Given the description of an element on the screen output the (x, y) to click on. 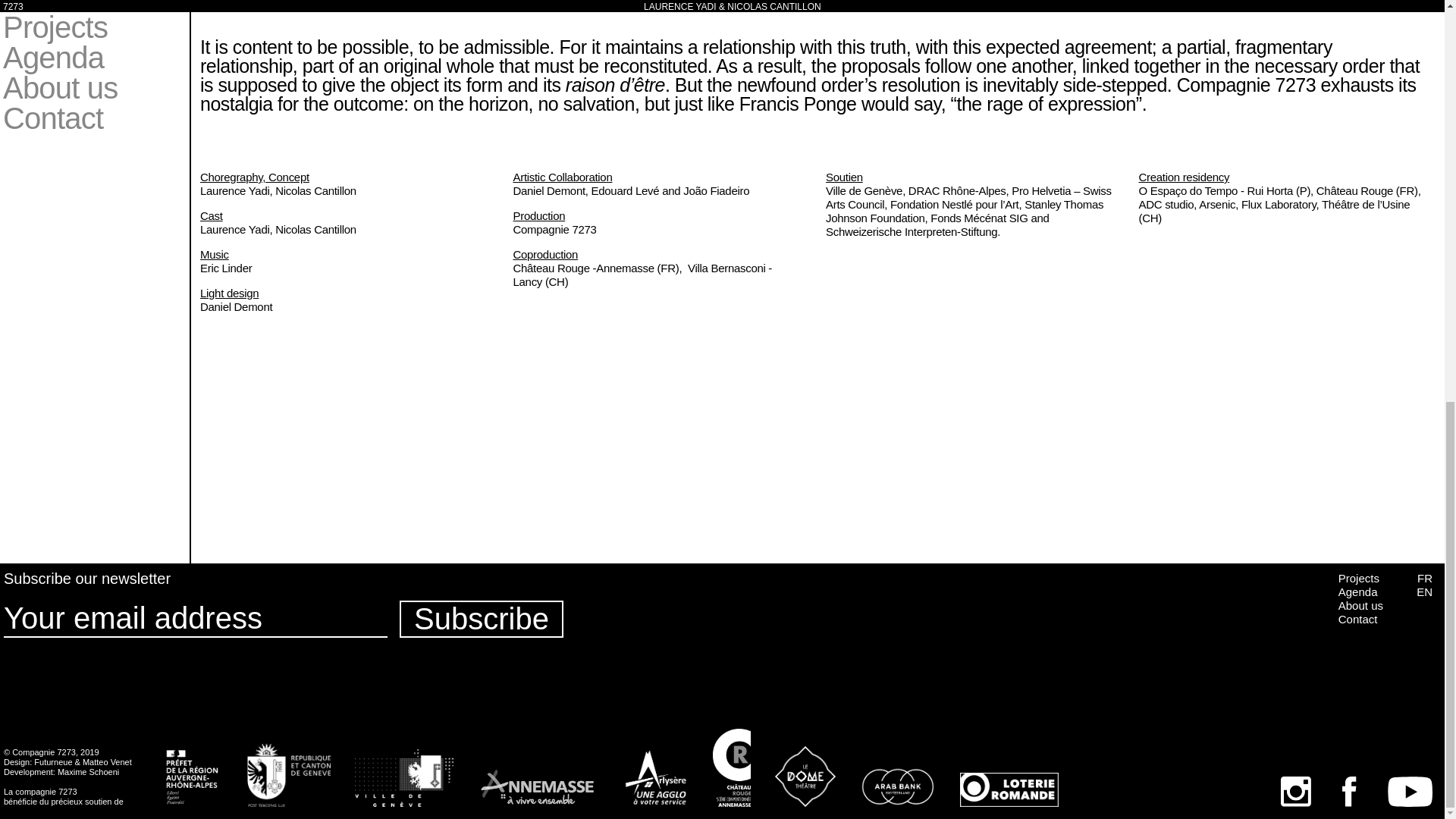
EN (1424, 591)
About us (1360, 604)
Agenda (1357, 591)
Projects (1358, 577)
En (59, 13)
Fr (18, 13)
Contact (1357, 618)
FR (1424, 577)
